Given the description of an element on the screen output the (x, y) to click on. 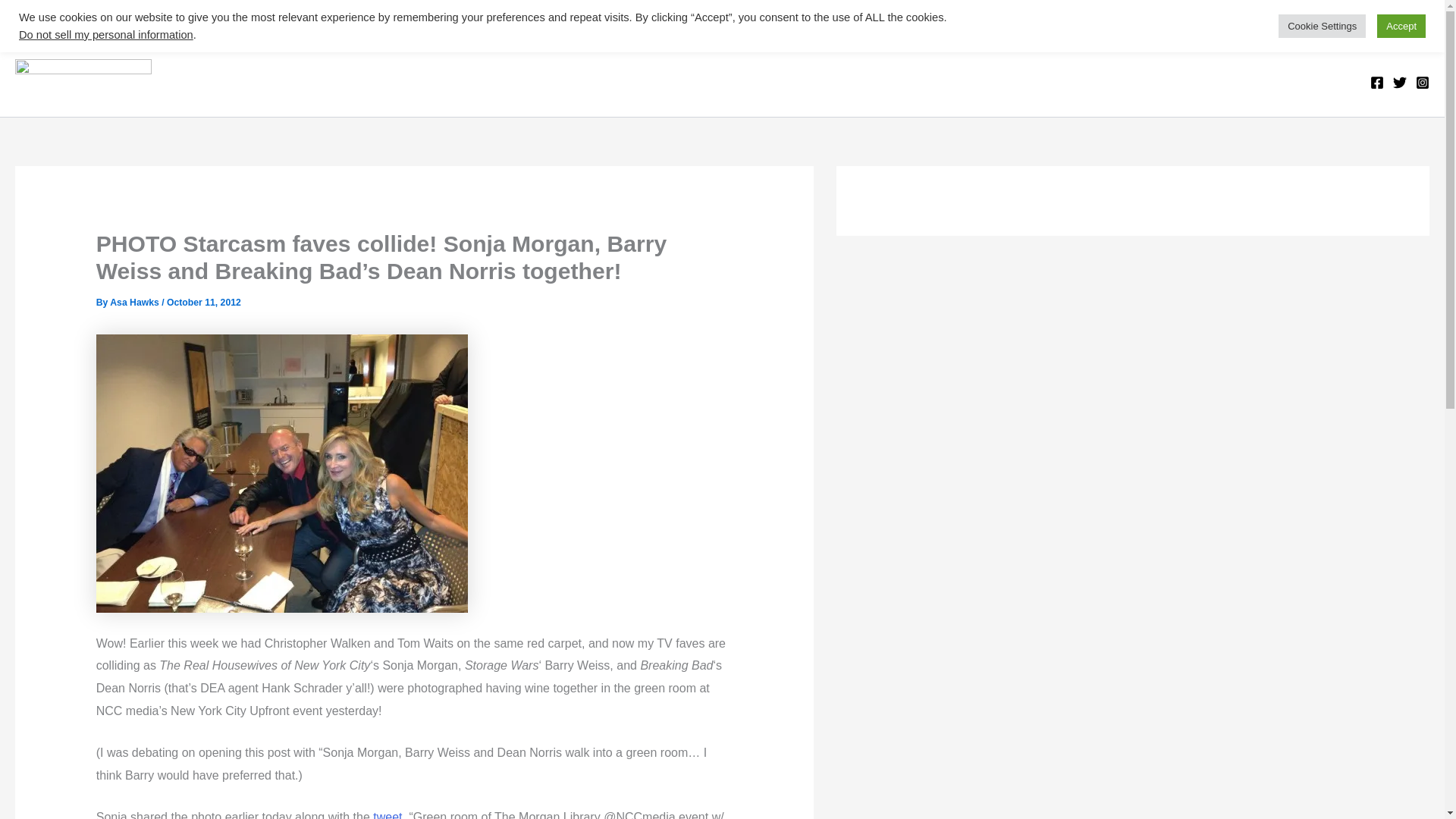
TOP CATEGORIES (87, 22)
tweet (386, 814)
Asa Hawks (135, 302)
Barry Weiss Dean Norris Sonja Morgan (281, 473)
Home (188, 22)
Search Button (1415, 31)
View all posts by Asa Hawks (135, 302)
